Given the description of an element on the screen output the (x, y) to click on. 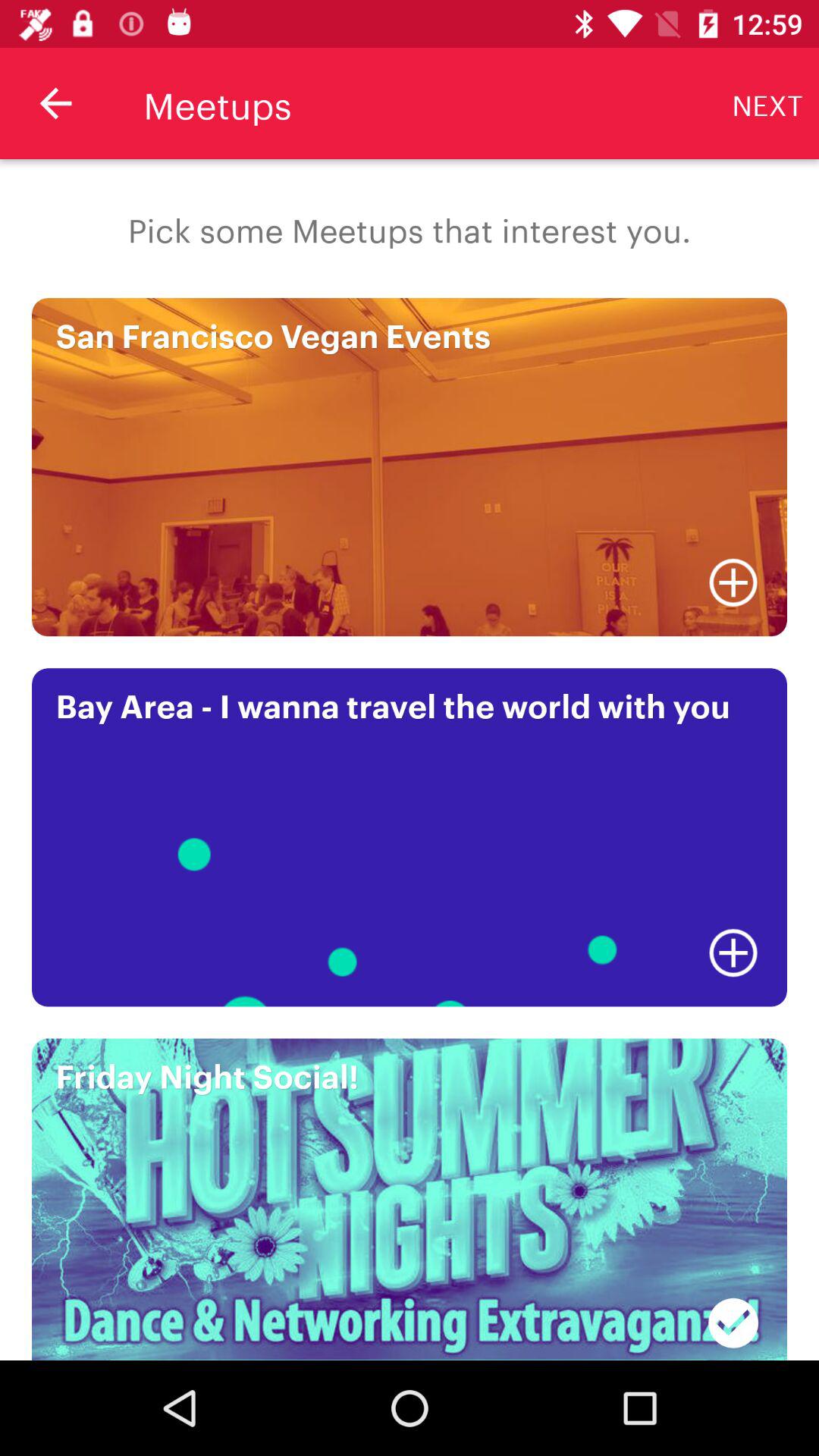
select the button at the bottom right corner (733, 1314)
select the image which is san francisco vegan events on the page (409, 467)
click next (767, 103)
click on plus sign under bay area (733, 953)
